Given the description of an element on the screen output the (x, y) to click on. 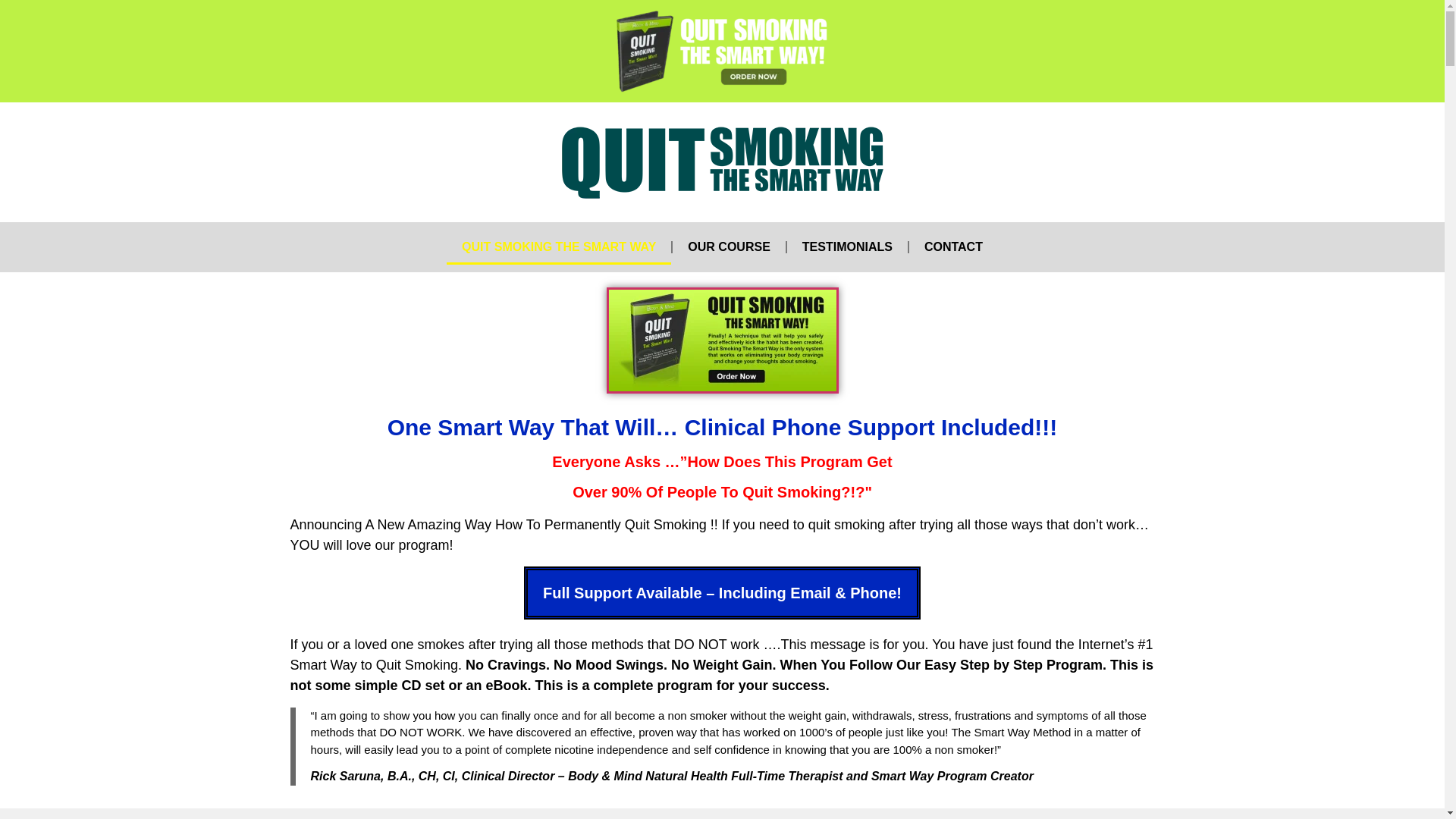
CONTACT (952, 247)
OUR COURSE (728, 247)
QUIT SMOKING THE SMART WAY (558, 247)
TESTIMONIALS (847, 247)
